Given the description of an element on the screen output the (x, y) to click on. 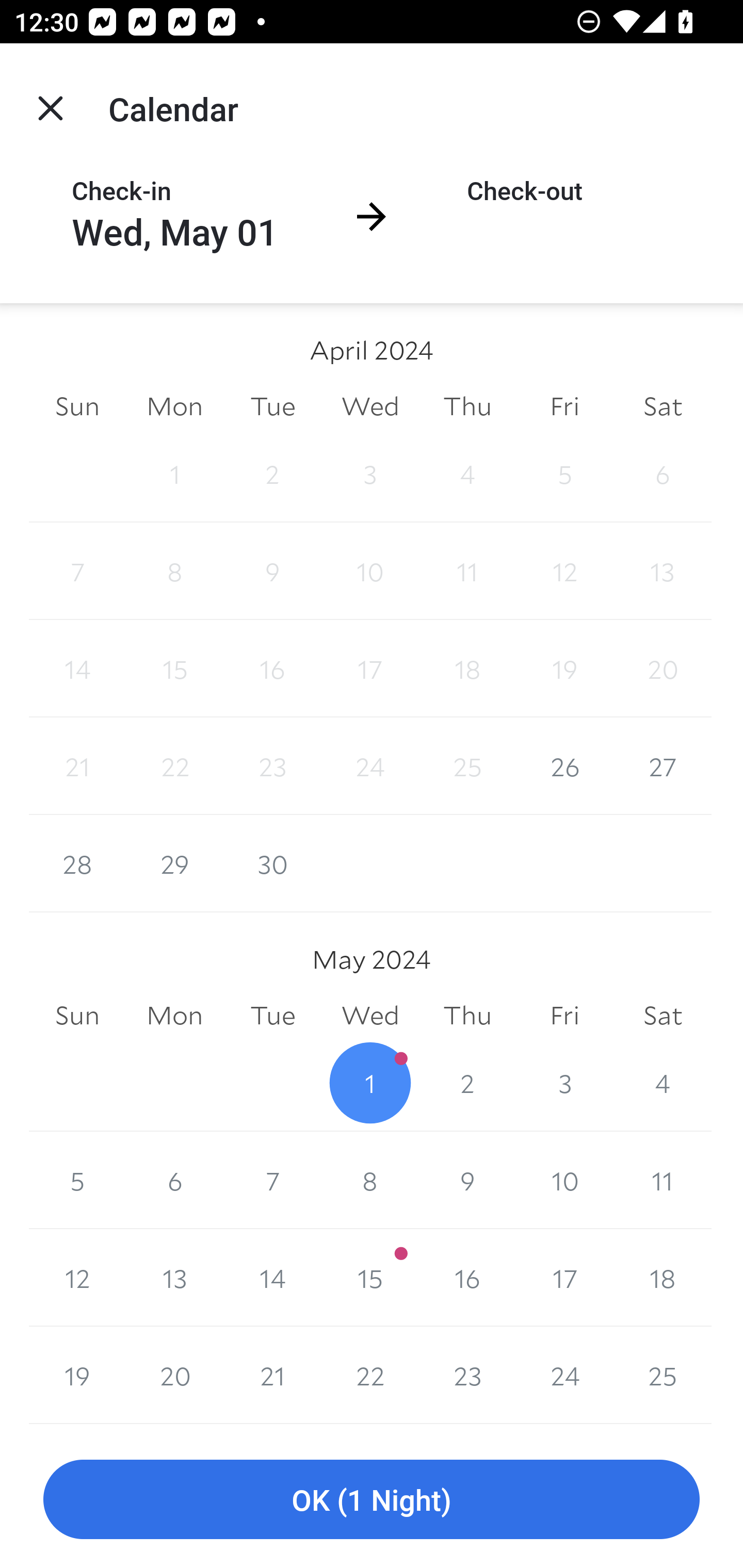
Sun (77, 405)
Mon (174, 405)
Tue (272, 405)
Wed (370, 405)
Thu (467, 405)
Fri (564, 405)
Sat (662, 405)
1 1 April 2024 (174, 473)
2 2 April 2024 (272, 473)
3 3 April 2024 (370, 473)
4 4 April 2024 (467, 473)
5 5 April 2024 (564, 473)
6 6 April 2024 (662, 473)
7 7 April 2024 (77, 570)
8 8 April 2024 (174, 570)
9 9 April 2024 (272, 570)
10 10 April 2024 (370, 570)
11 11 April 2024 (467, 570)
12 12 April 2024 (564, 570)
13 13 April 2024 (662, 570)
14 14 April 2024 (77, 668)
15 15 April 2024 (174, 668)
16 16 April 2024 (272, 668)
17 17 April 2024 (370, 668)
18 18 April 2024 (467, 668)
19 19 April 2024 (564, 668)
20 20 April 2024 (662, 668)
21 21 April 2024 (77, 766)
22 22 April 2024 (174, 766)
23 23 April 2024 (272, 766)
24 24 April 2024 (370, 766)
25 25 April 2024 (467, 766)
26 26 April 2024 (564, 766)
27 27 April 2024 (662, 766)
28 28 April 2024 (77, 863)
29 29 April 2024 (174, 863)
30 30 April 2024 (272, 863)
Sun (77, 1015)
Mon (174, 1015)
Tue (272, 1015)
Wed (370, 1015)
Thu (467, 1015)
Fri (564, 1015)
Sat (662, 1015)
1 1 May 2024 (370, 1083)
2 2 May 2024 (467, 1083)
3 3 May 2024 (564, 1083)
4 4 May 2024 (662, 1083)
5 5 May 2024 (77, 1180)
6 6 May 2024 (174, 1180)
7 7 May 2024 (272, 1180)
8 8 May 2024 (370, 1180)
9 9 May 2024 (467, 1180)
10 10 May 2024 (564, 1180)
11 11 May 2024 (662, 1180)
12 12 May 2024 (77, 1277)
13 13 May 2024 (174, 1277)
14 14 May 2024 (272, 1277)
15 15 May 2024 (370, 1277)
16 16 May 2024 (467, 1277)
17 17 May 2024 (564, 1277)
18 18 May 2024 (662, 1277)
19 19 May 2024 (77, 1374)
20 20 May 2024 (174, 1374)
21 21 May 2024 (272, 1374)
22 22 May 2024 (370, 1374)
23 23 May 2024 (467, 1374)
24 24 May 2024 (564, 1374)
25 25 May 2024 (662, 1374)
OK (1 Night) (371, 1499)
